Given the description of an element on the screen output the (x, y) to click on. 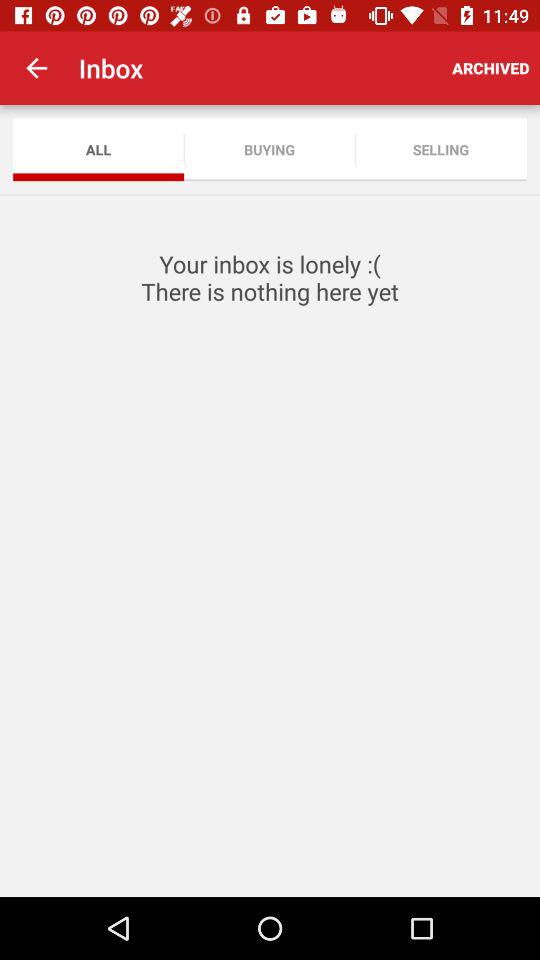
tap the app next to the inbox (36, 68)
